Given the description of an element on the screen output the (x, y) to click on. 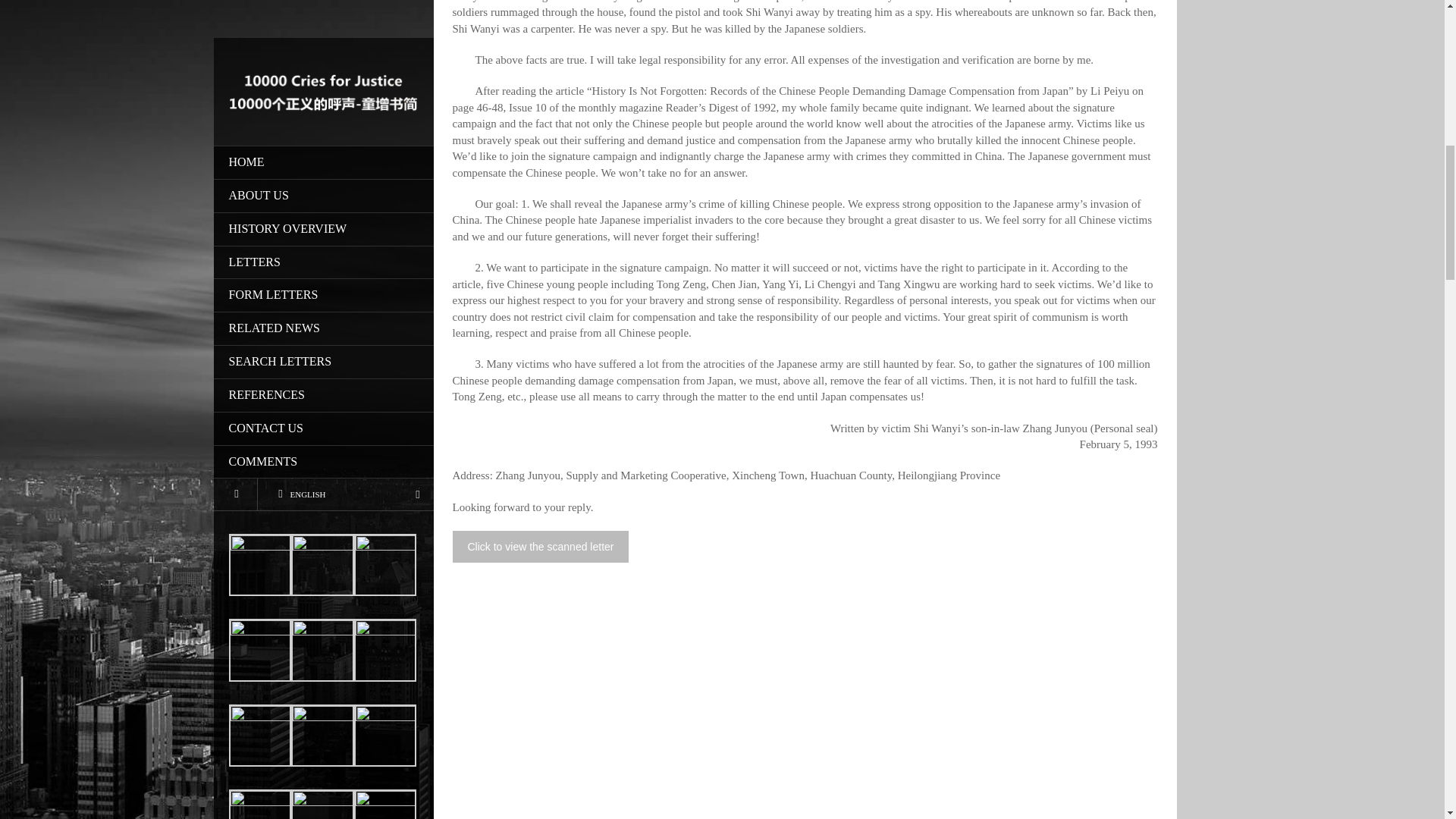
Click to view the scanned letter (539, 546)
